Given the description of an element on the screen output the (x, y) to click on. 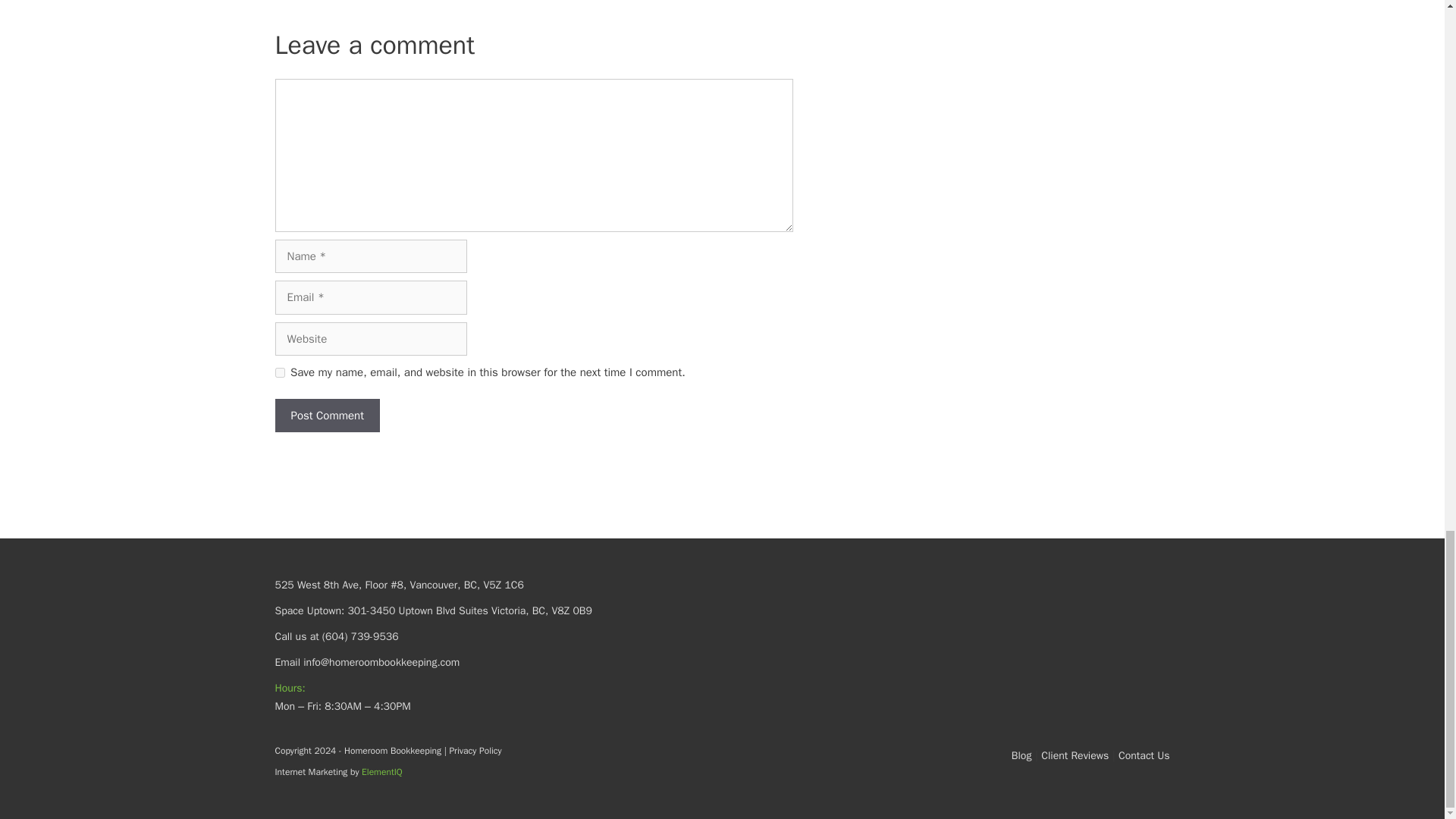
Post Comment (326, 415)
Post Comment (326, 415)
yes (279, 372)
